Given the description of an element on the screen output the (x, y) to click on. 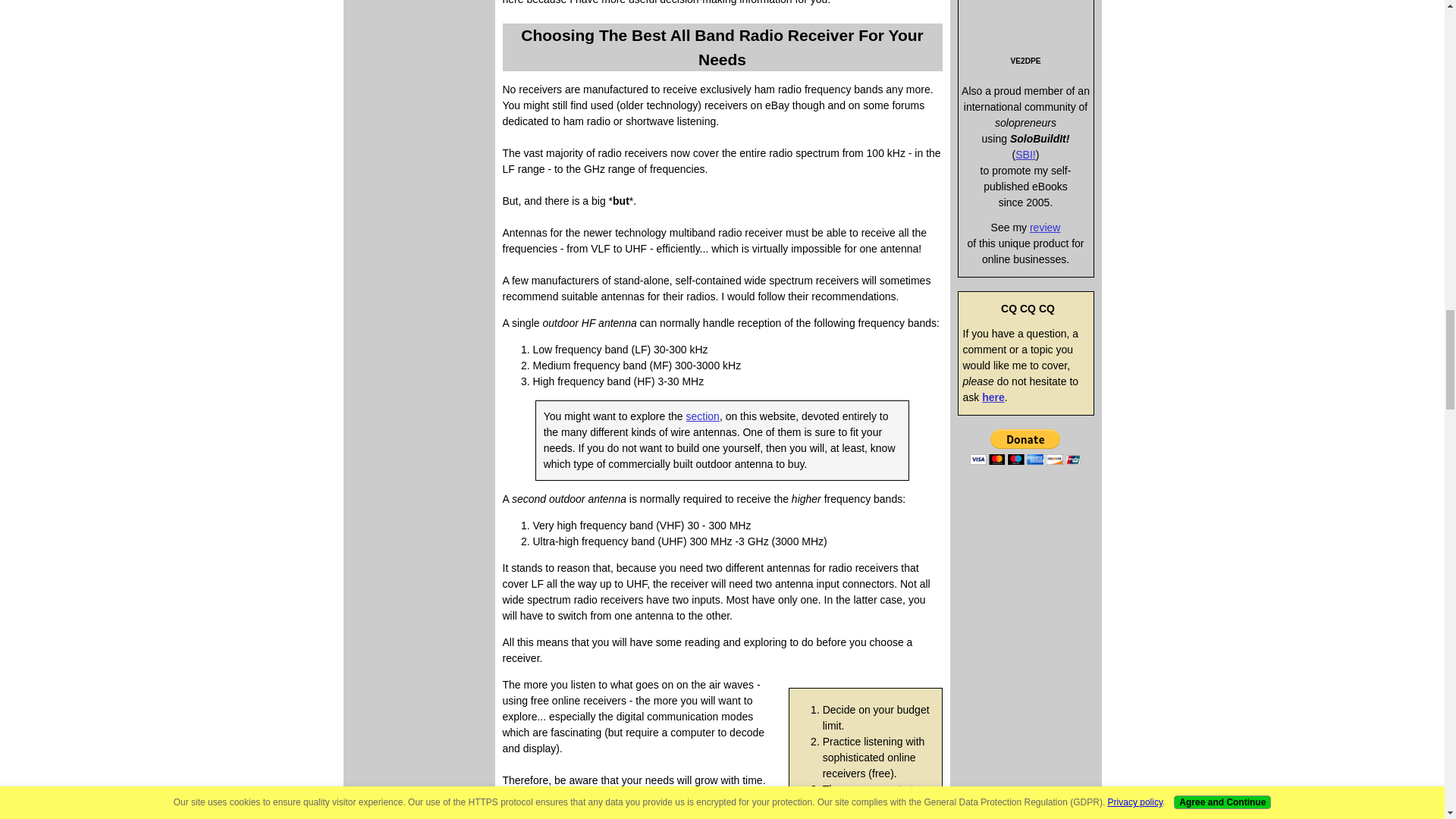
VE2DPE Ham Radio Operator and Solopreneur (1026, 25)
PayPal - The safer, easier way to pay online! (1025, 447)
section (702, 416)
